Given the description of an element on the screen output the (x, y) to click on. 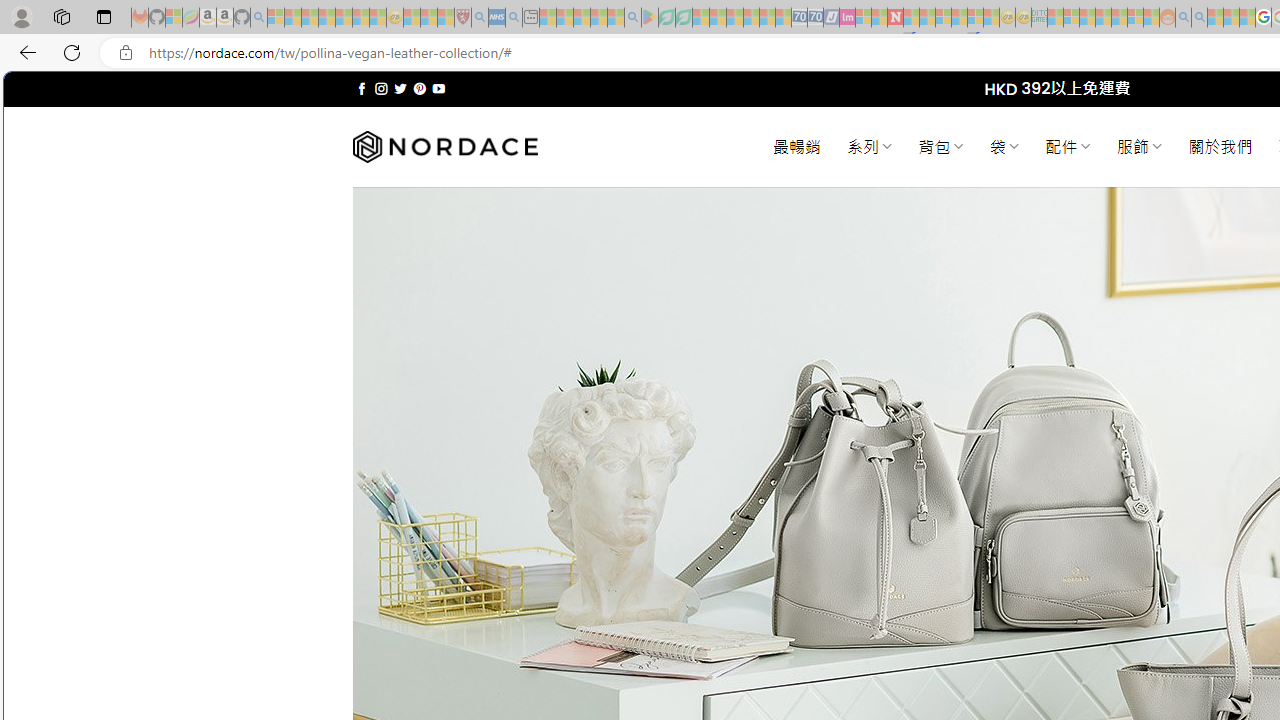
Bluey: Let's Play! - Apps on Google Play - Sleeping (649, 17)
